Given the description of an element on the screen output the (x, y) to click on. 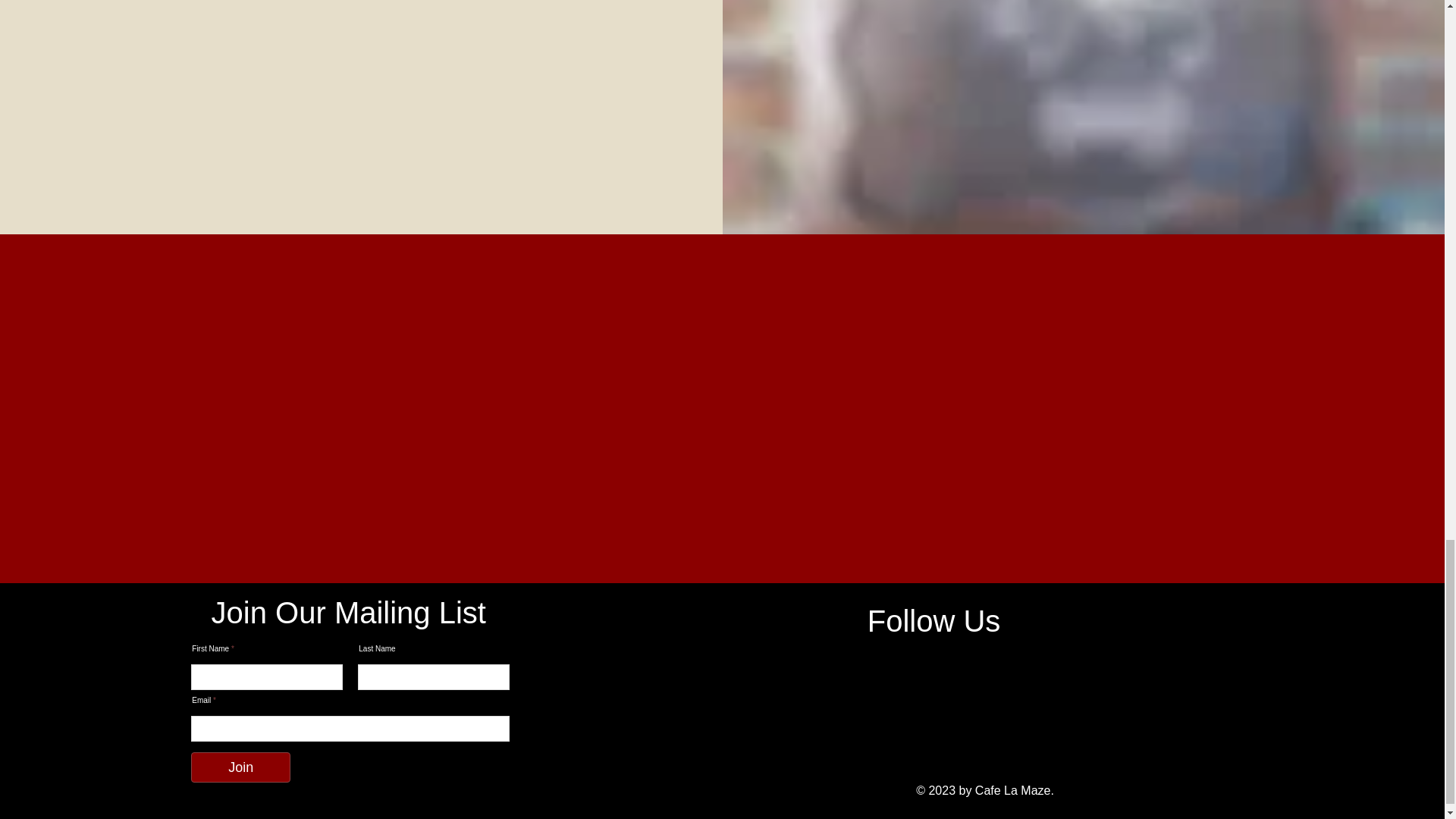
Join (239, 767)
